Given the description of an element on the screen output the (x, y) to click on. 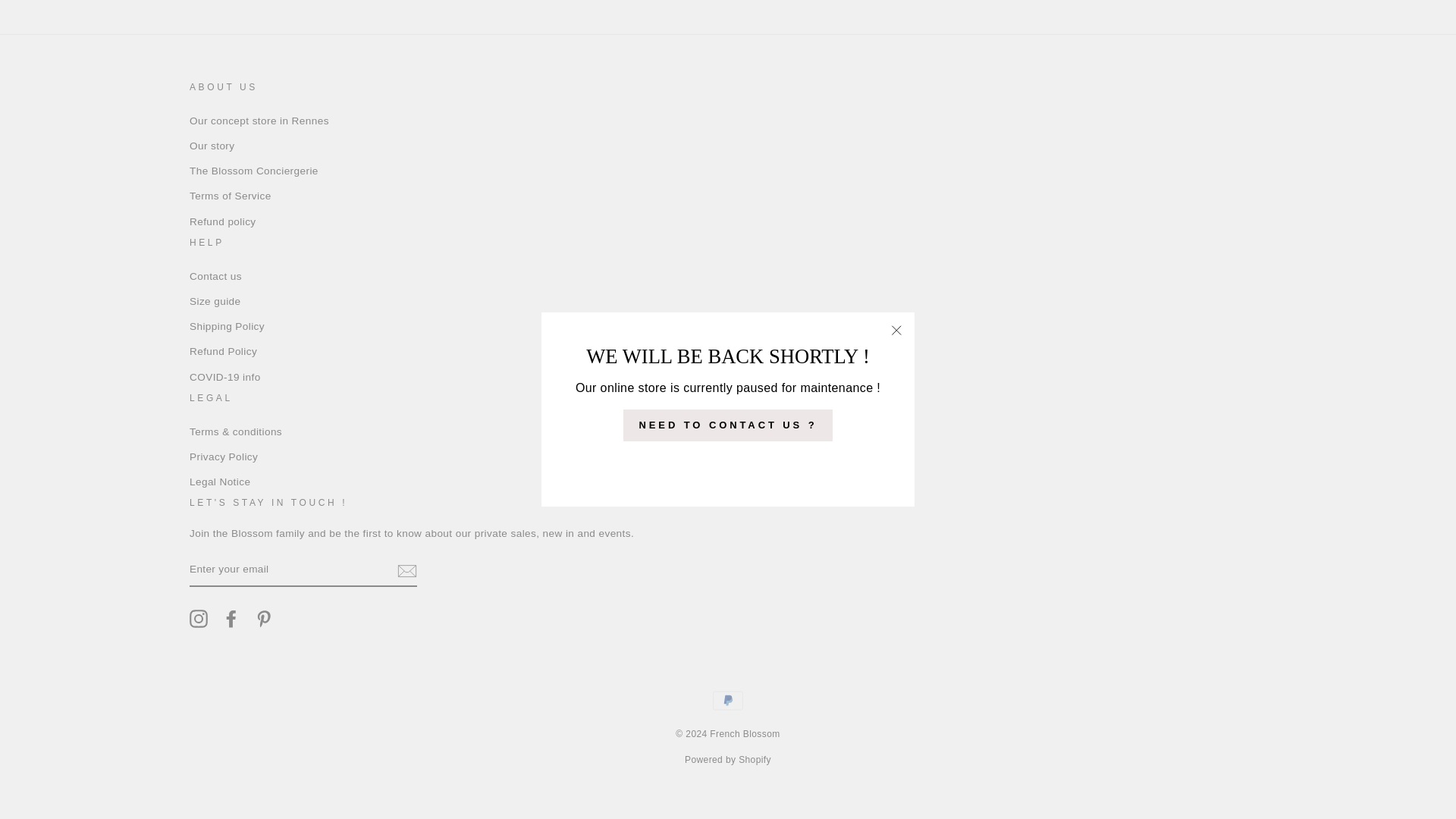
PayPal (727, 700)
